Given the description of an element on the screen output the (x, y) to click on. 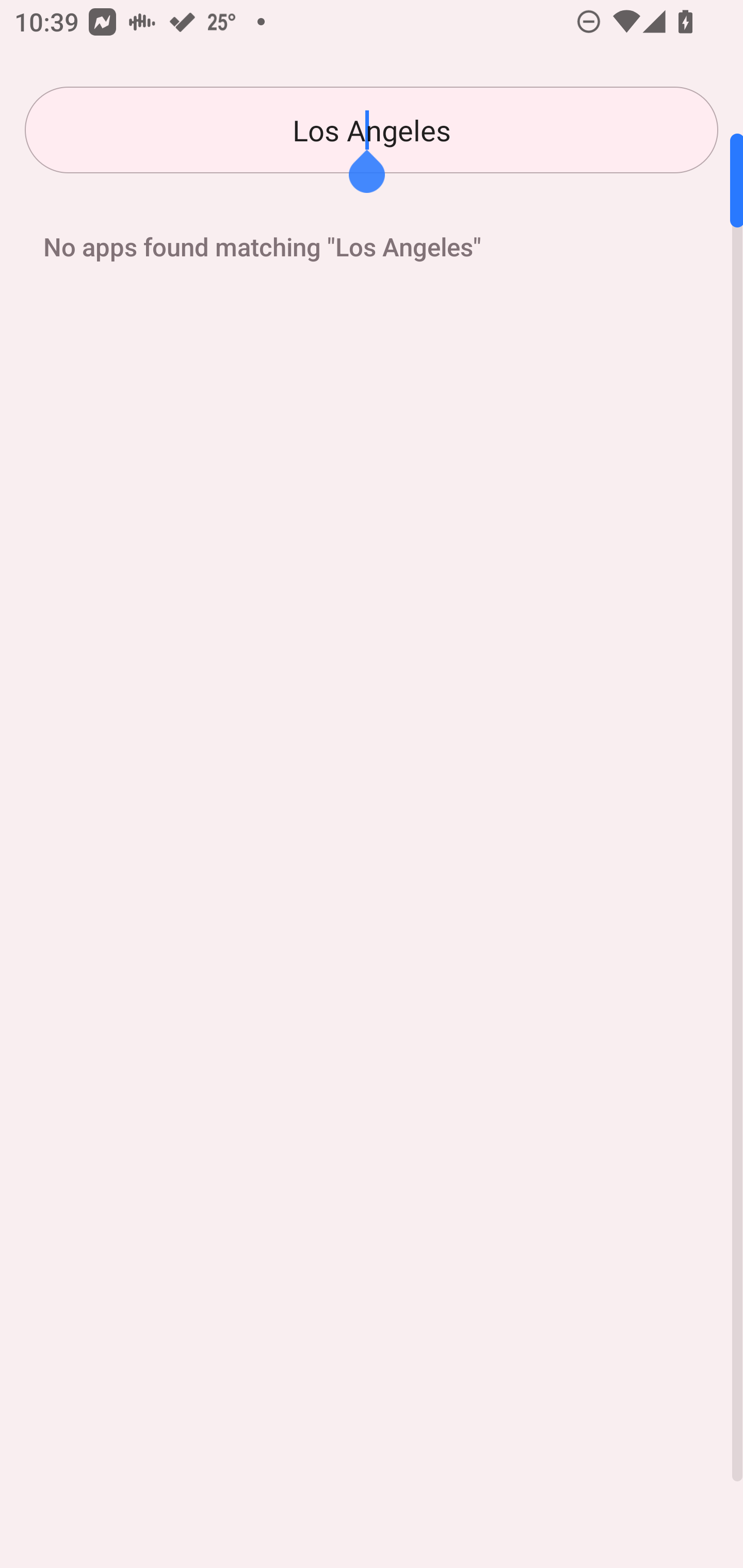
Los Angeles (371, 130)
